Given the description of an element on the screen output the (x, y) to click on. 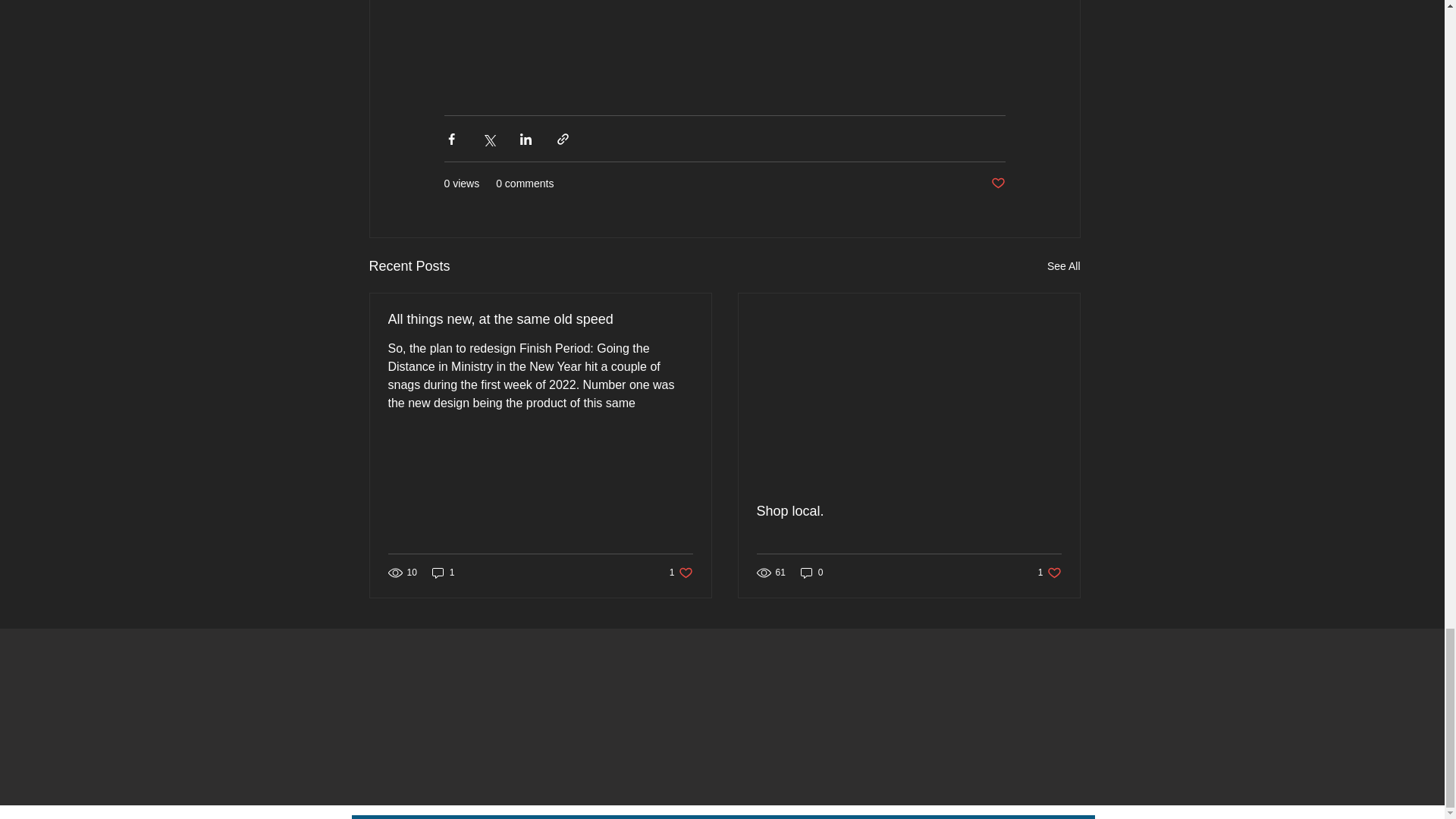
0 (812, 572)
See All (681, 572)
Shop local. (1063, 266)
1 (909, 511)
Post not marked as liked (443, 572)
All things new, at the same old speed (997, 183)
